Given the description of an element on the screen output the (x, y) to click on. 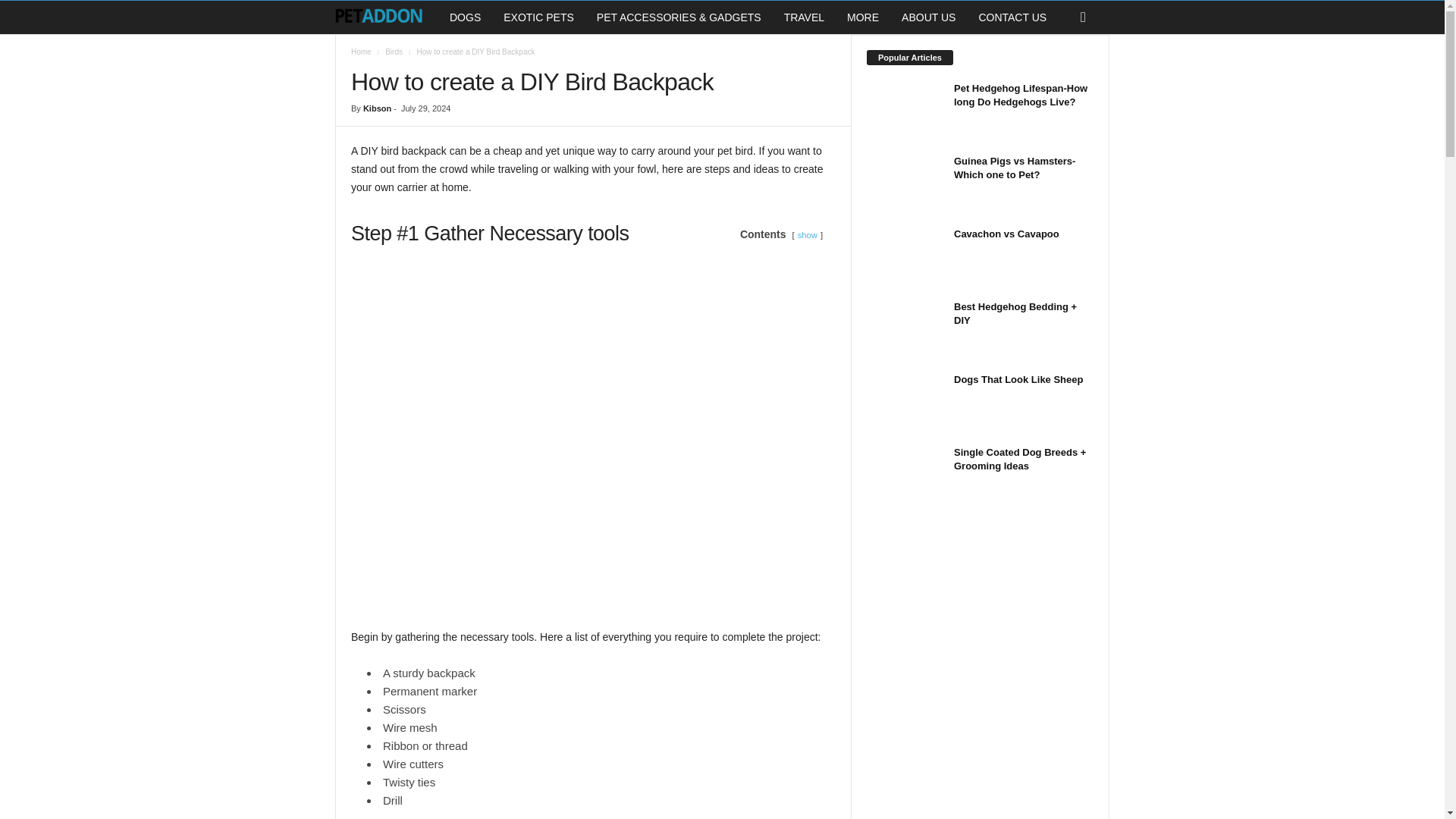
View all posts in Birds (394, 51)
DOGS (465, 17)
Petaddon (386, 16)
EXOTIC PETS (538, 17)
Pet Hedgehog Lifespan-How long Do Hedgehogs Live? (1020, 94)
TRAVEL (804, 17)
Pet Hedgehog Lifespan-How long Do Hedgehogs Live? (904, 109)
MORE (862, 17)
Petaddon (378, 16)
